Given the description of an element on the screen output the (x, y) to click on. 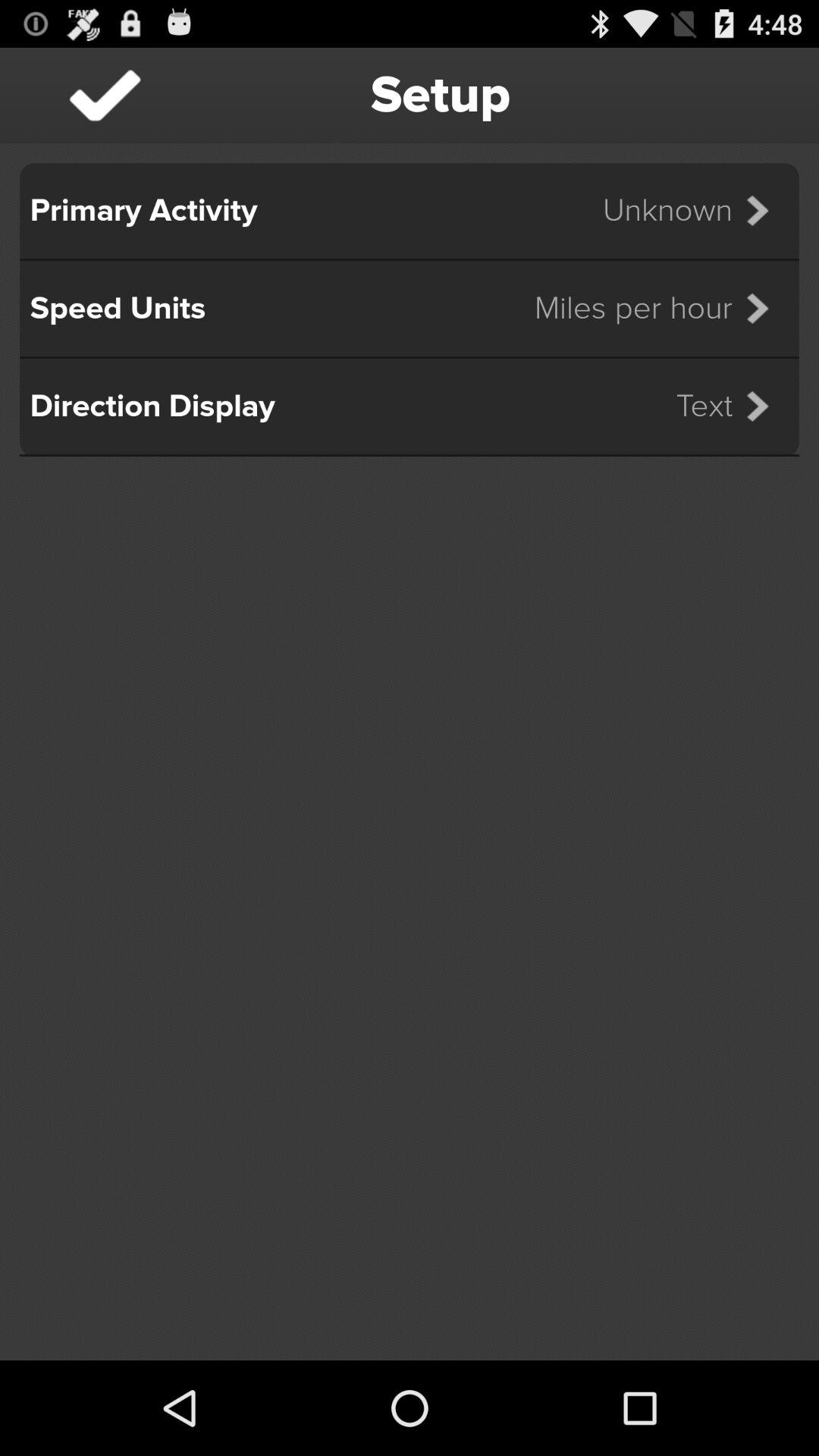
confirm changes (104, 95)
